Given the description of an element on the screen output the (x, y) to click on. 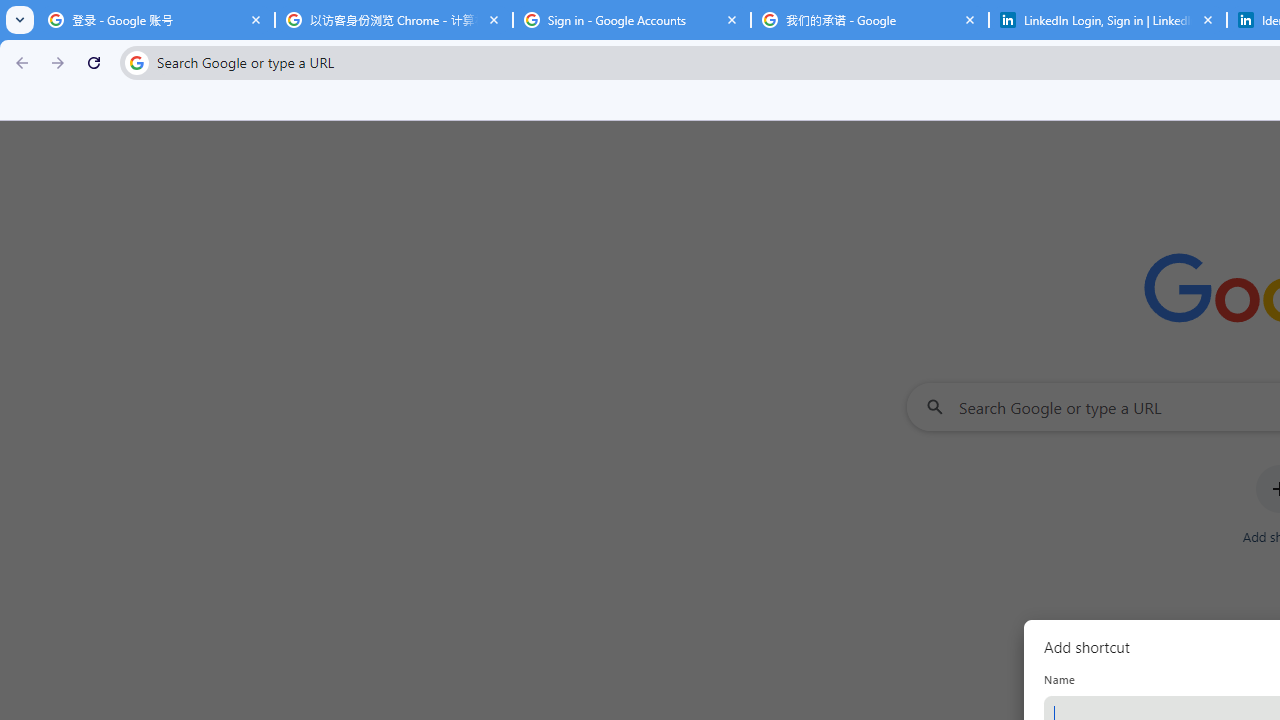
LinkedIn Login, Sign in | LinkedIn (1108, 20)
Sign in - Google Accounts (632, 20)
